Given the description of an element on the screen output the (x, y) to click on. 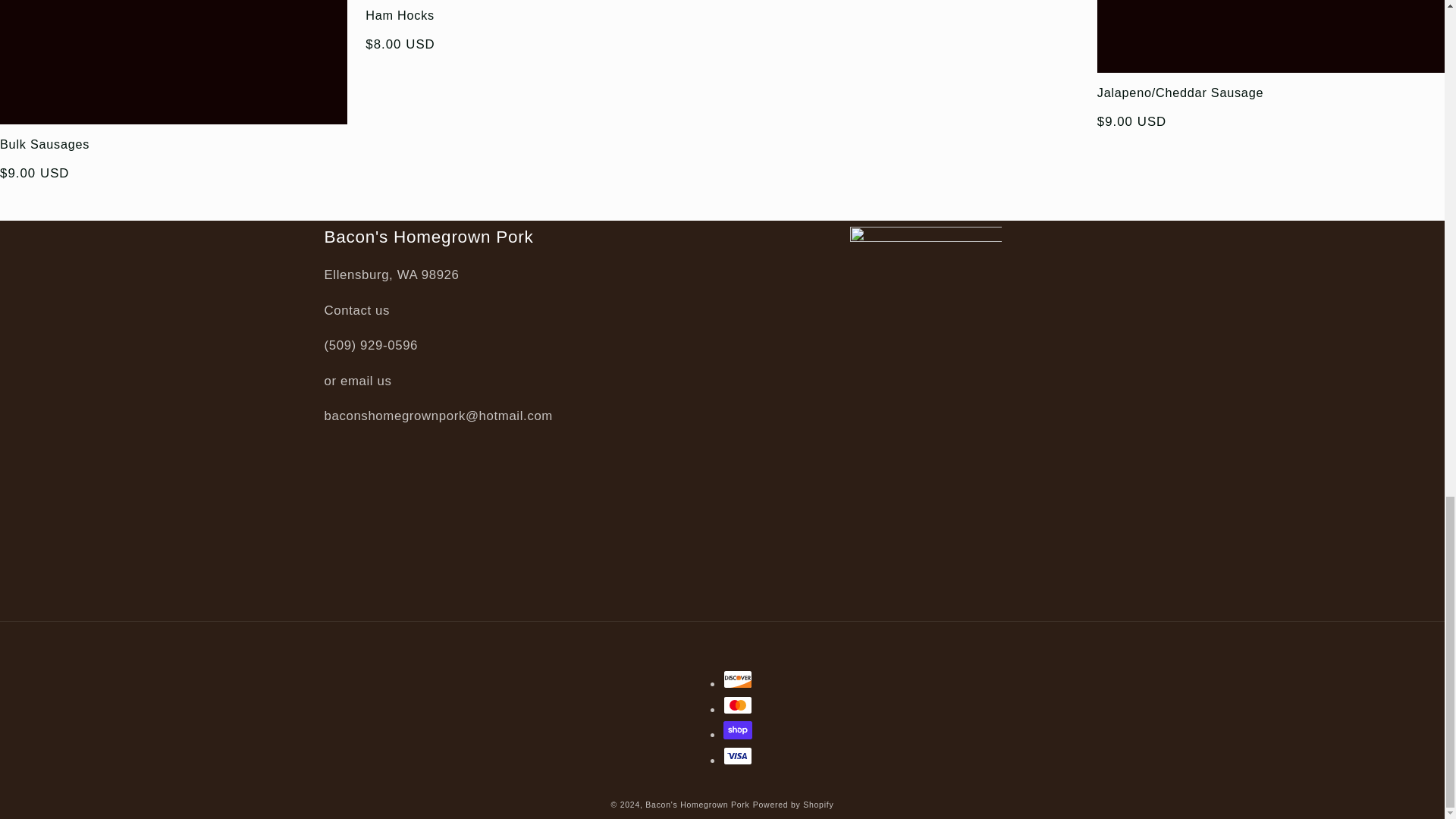
Bulk Sausages (173, 143)
Mastercard (737, 705)
Discover (737, 679)
Shop Pay (737, 730)
Ham Hocks (539, 14)
Visa (737, 755)
